Given the description of an element on the screen output the (x, y) to click on. 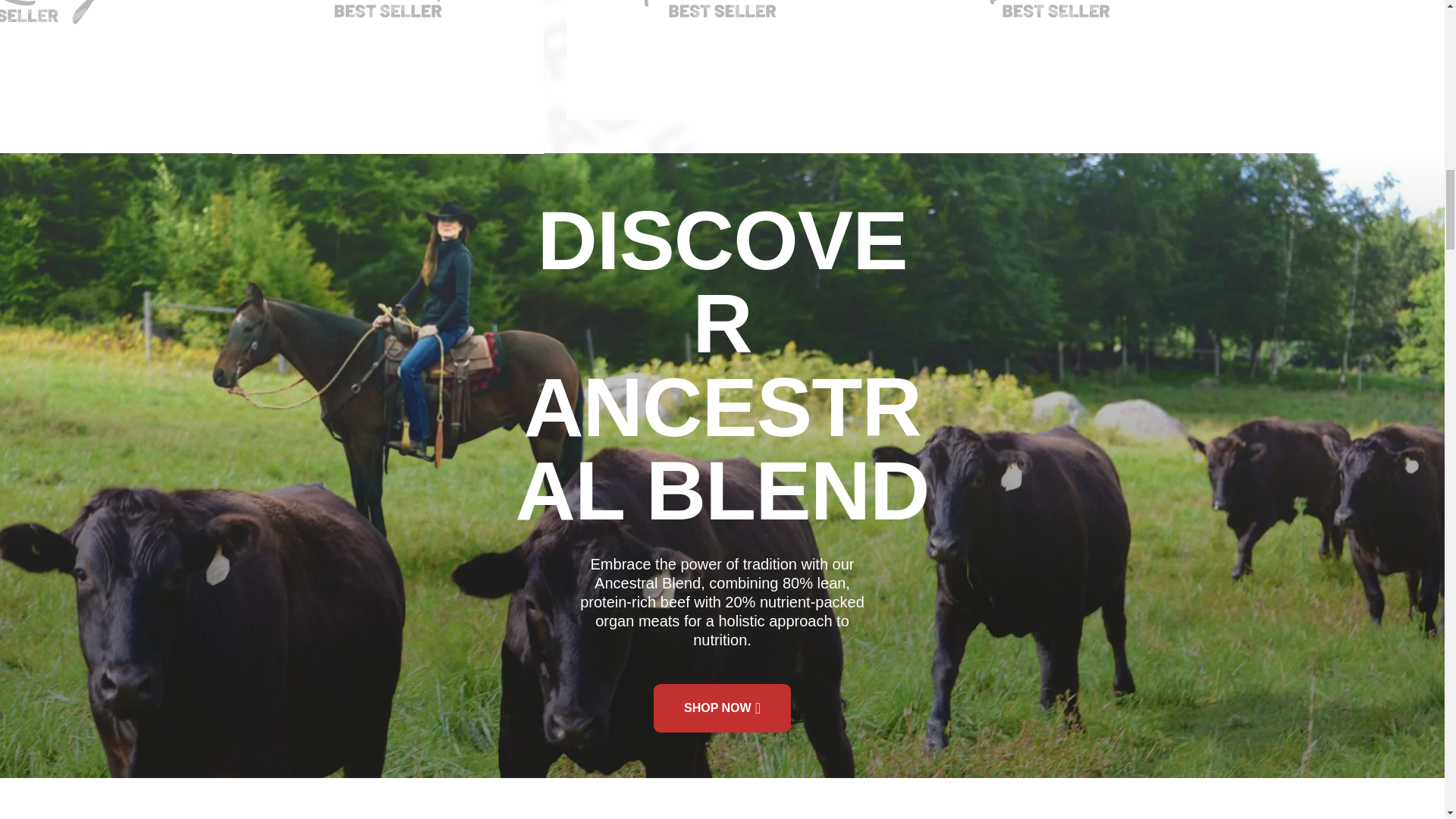
SHOP NOW (721, 707)
